Given the description of an element on the screen output the (x, y) to click on. 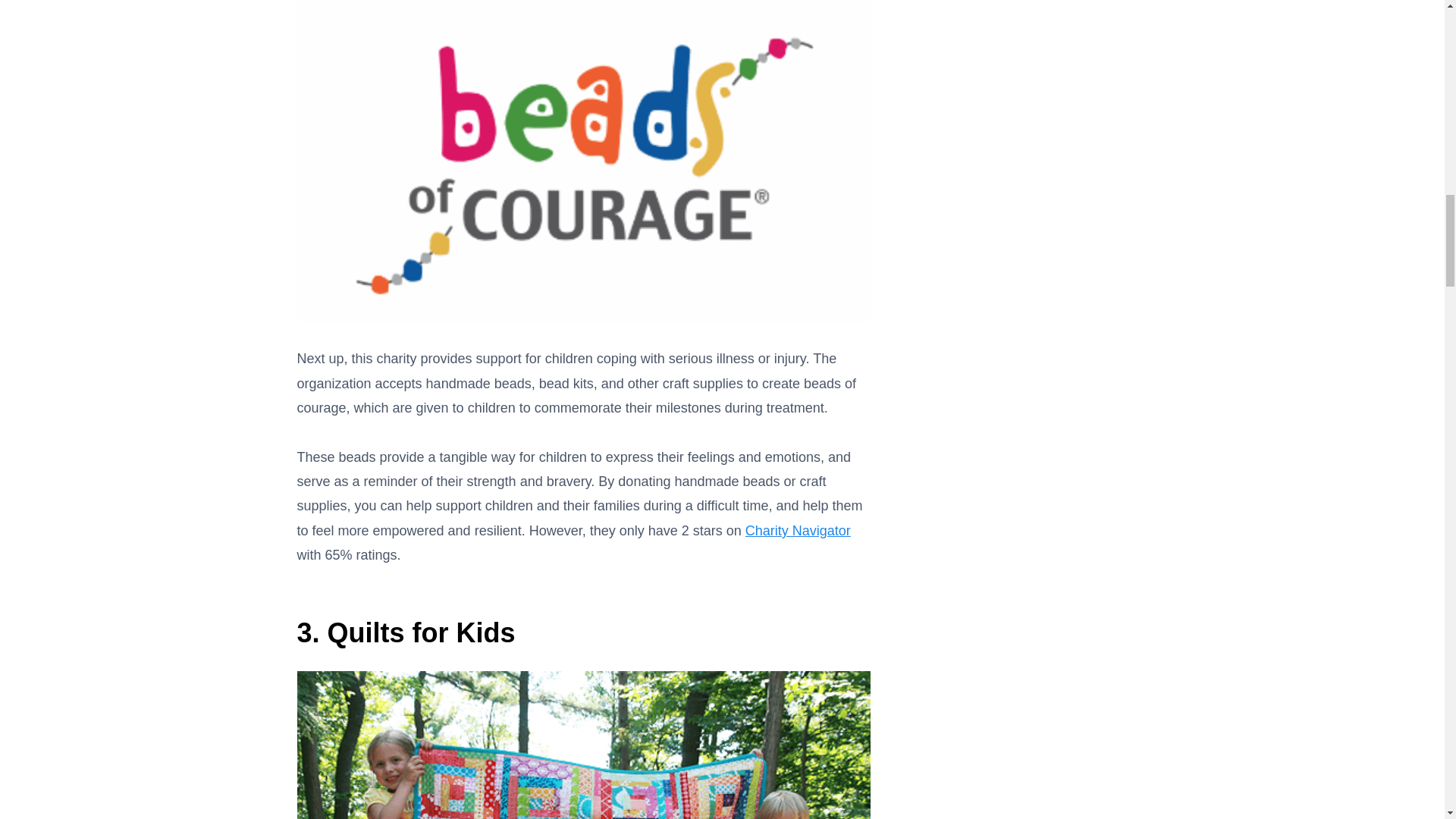
Quilts for Kids (421, 632)
Charity Navigator (797, 530)
